Given the description of an element on the screen output the (x, y) to click on. 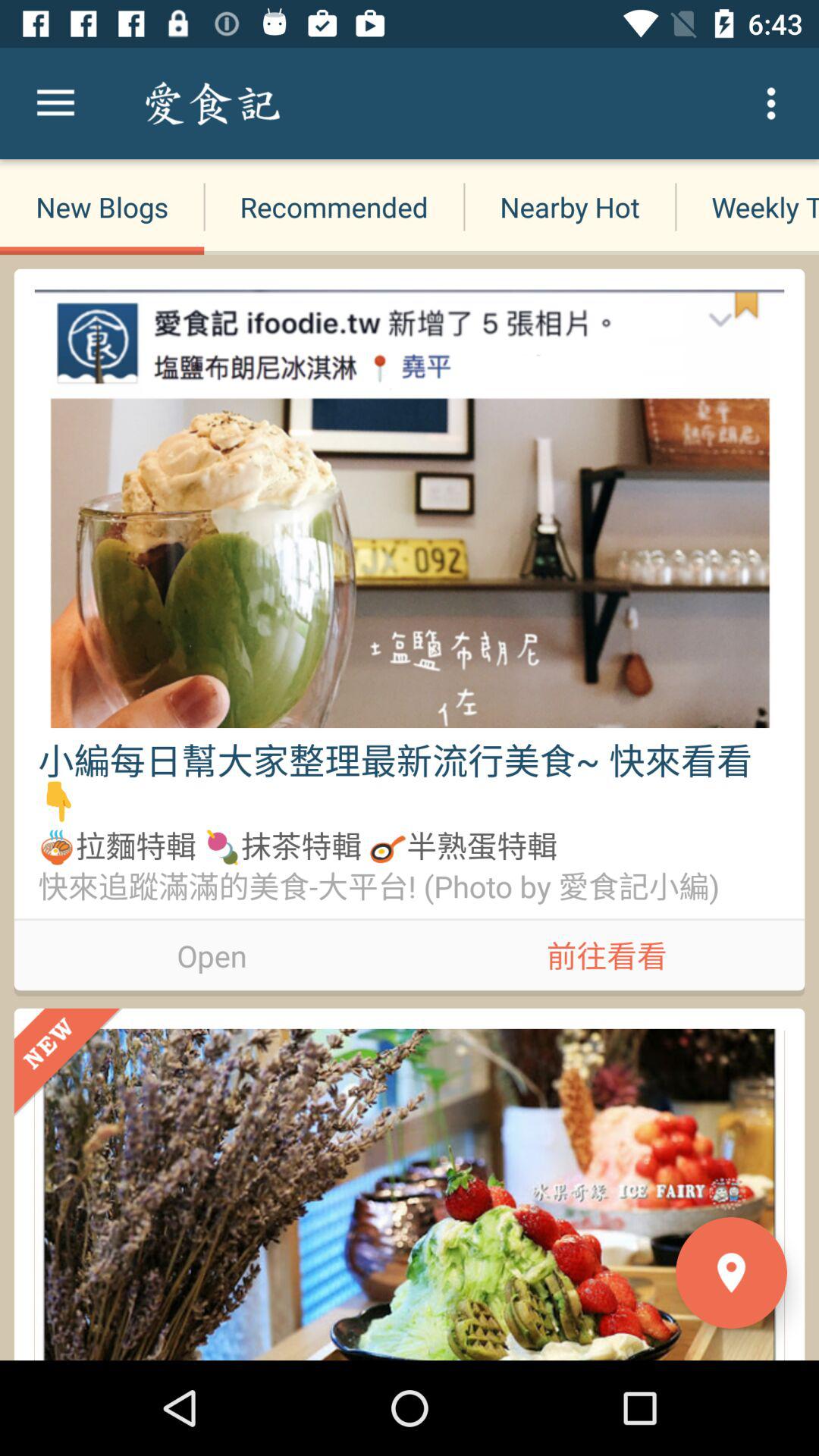
swipe until nearby hot item (569, 206)
